Given the description of an element on the screen output the (x, y) to click on. 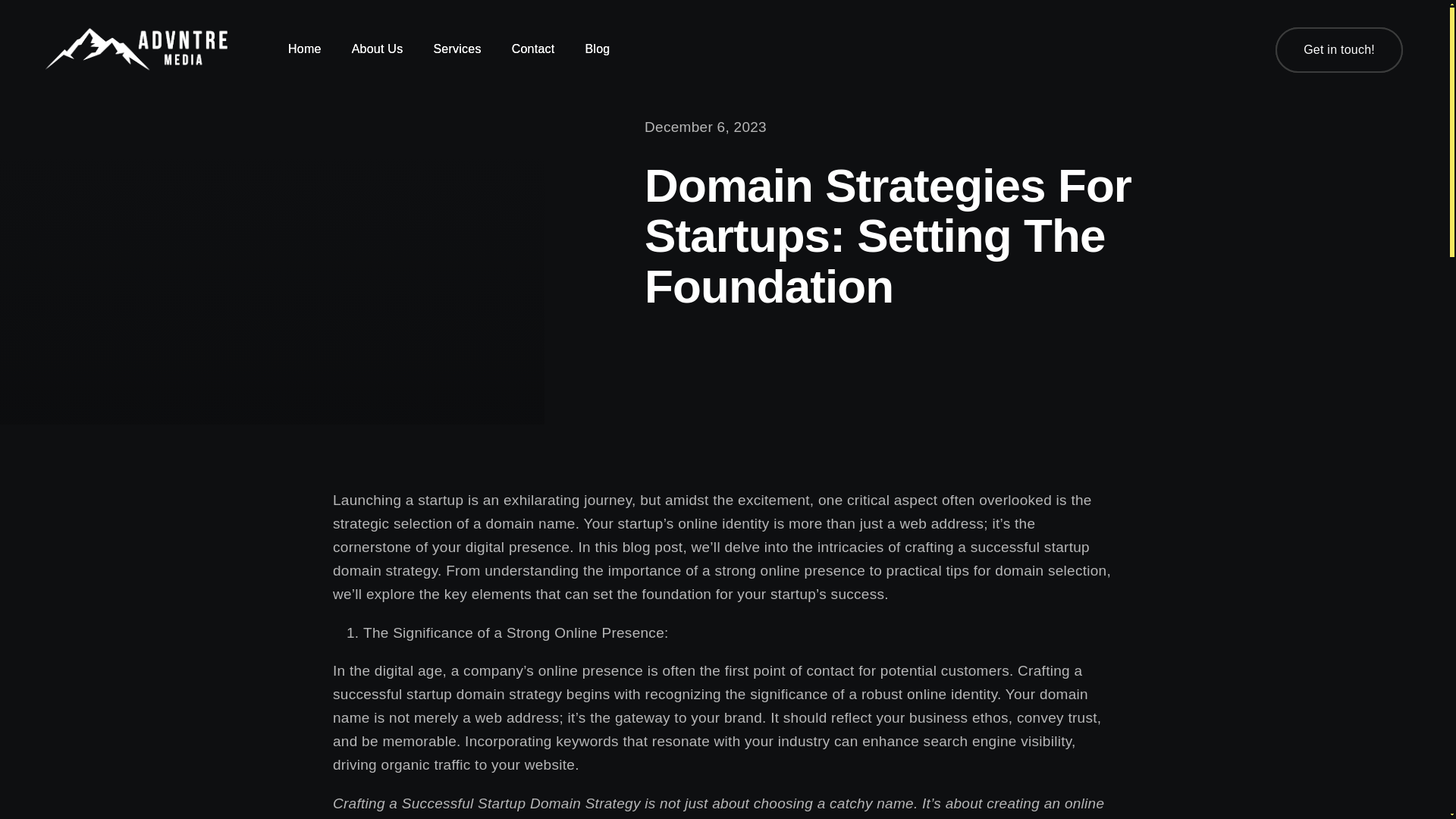
Services (456, 49)
Contact (533, 49)
Home (304, 49)
Get in touch! (1339, 49)
Blog (597, 49)
About Us (377, 49)
